Given the description of an element on the screen output the (x, y) to click on. 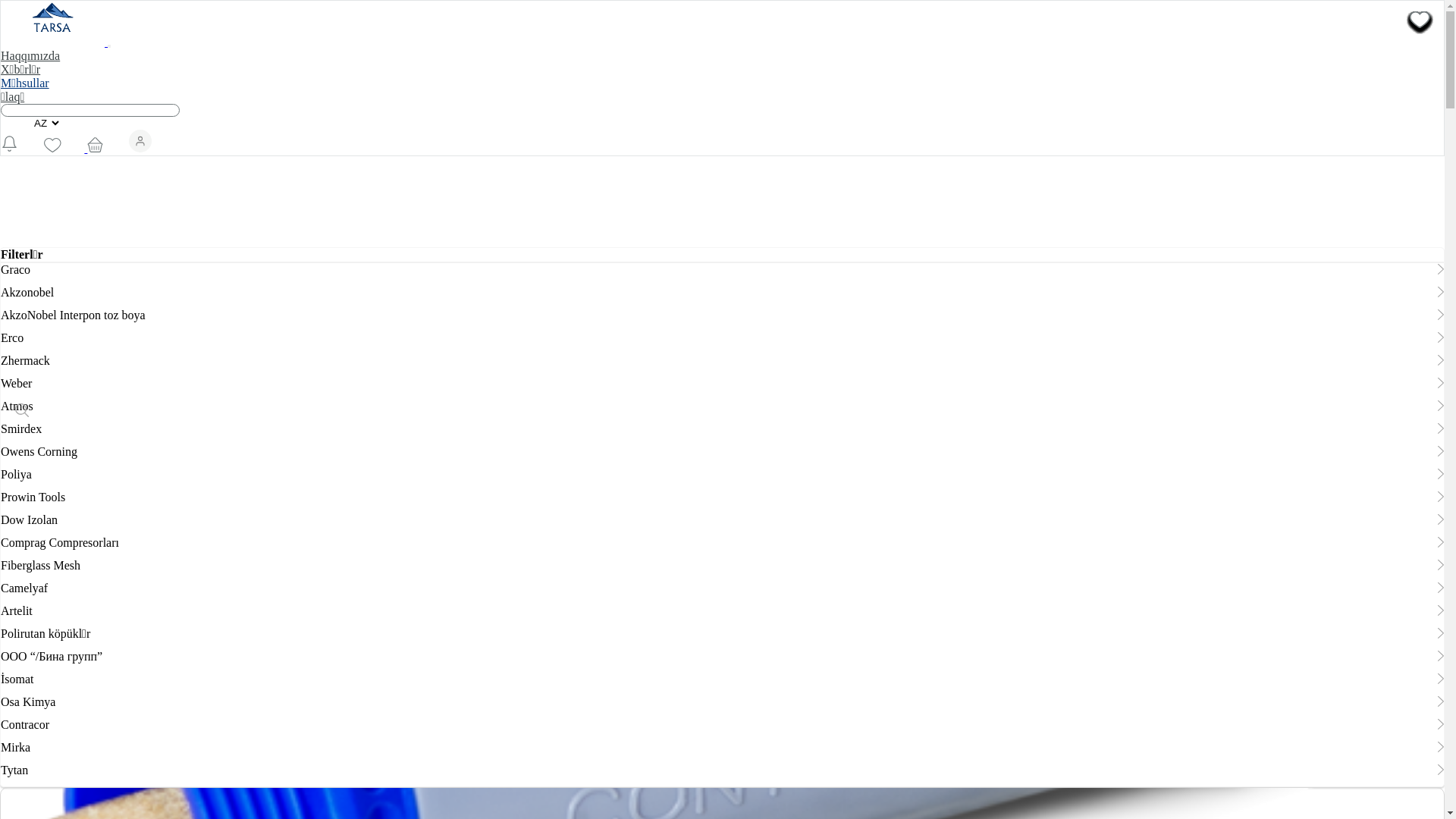
Poliya Element type: text (15, 474)
Graco Element type: text (15, 269)
Prowin Tools Element type: text (32, 497)
Zhermack Element type: text (25, 360)
Weber Element type: text (15, 383)
Osa Kimya Element type: text (27, 702)
Artelit Element type: text (16, 611)
Erco Element type: text (11, 338)
Smirdex Element type: text (20, 429)
Atmos Element type: text (16, 406)
Akzonobel Element type: text (26, 292)
AkzoNobel Interpon toz boya Element type: text (72, 315)
Owens Corning Element type: text (38, 451)
Contracor Element type: text (24, 724)
Mirka Element type: text (15, 747)
Dow Izolan Element type: text (28, 520)
Fiberglass Mesh Element type: text (40, 565)
Camelyaf Element type: text (23, 588)
Tytan Element type: text (14, 770)
